Given the description of an element on the screen output the (x, y) to click on. 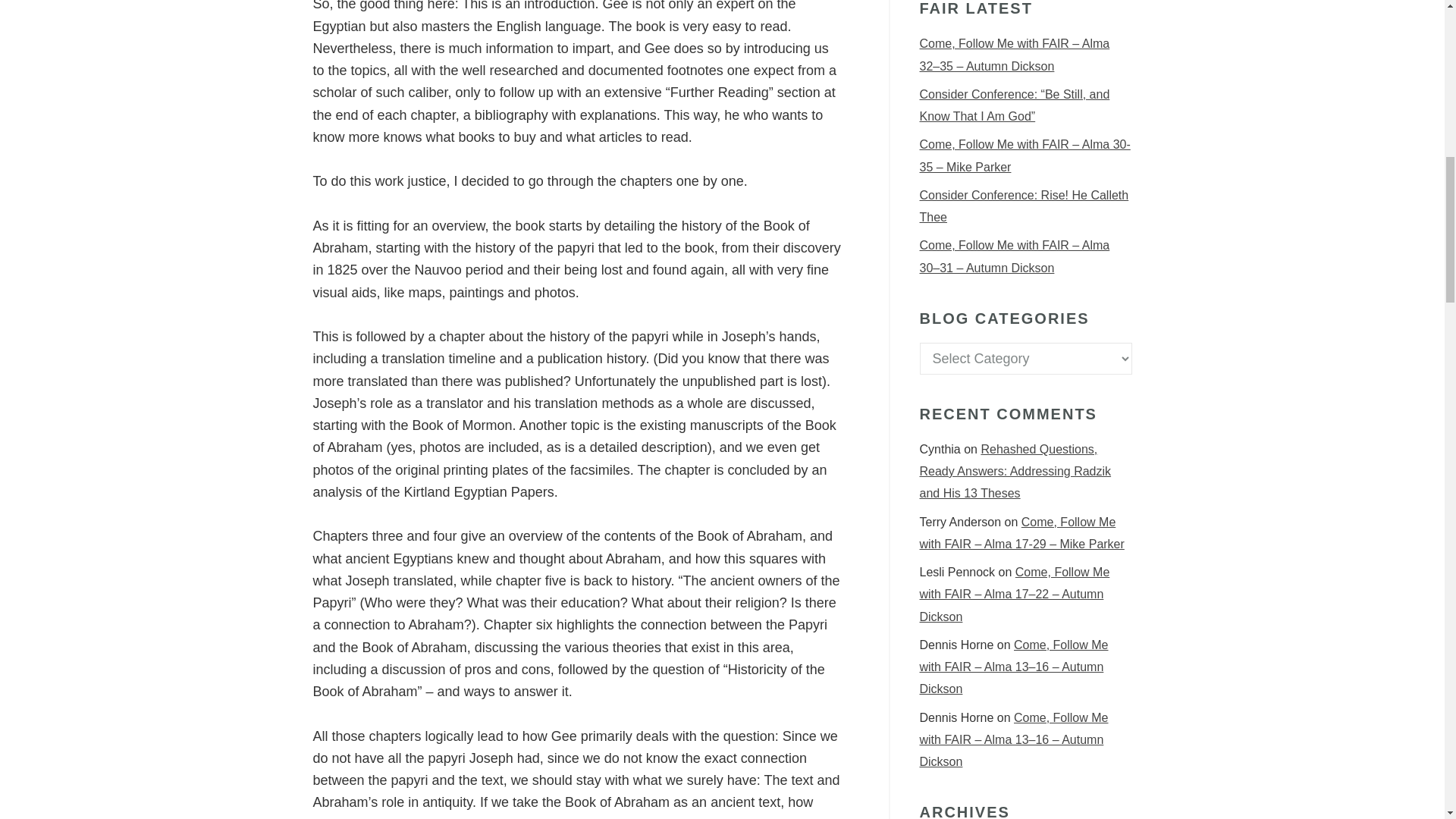
Consider Conference: Rise! He Calleth Thee (1023, 206)
